Given the description of an element on the screen output the (x, y) to click on. 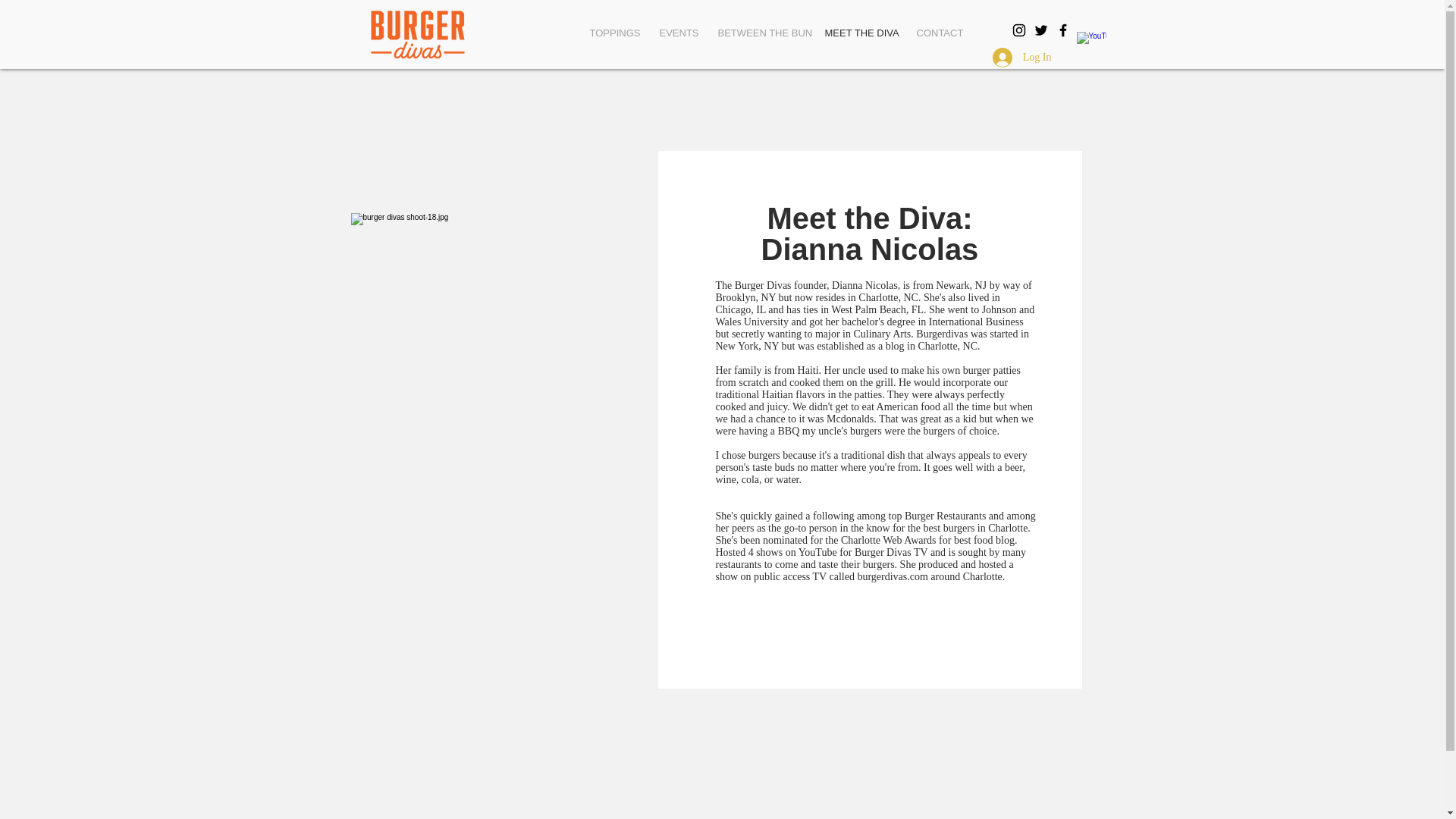
BETWEEN THE BUN (759, 33)
EVENTS (676, 33)
CONTACT (939, 33)
MEET THE DIVA (858, 33)
Log In (1021, 57)
